Given the description of an element on the screen output the (x, y) to click on. 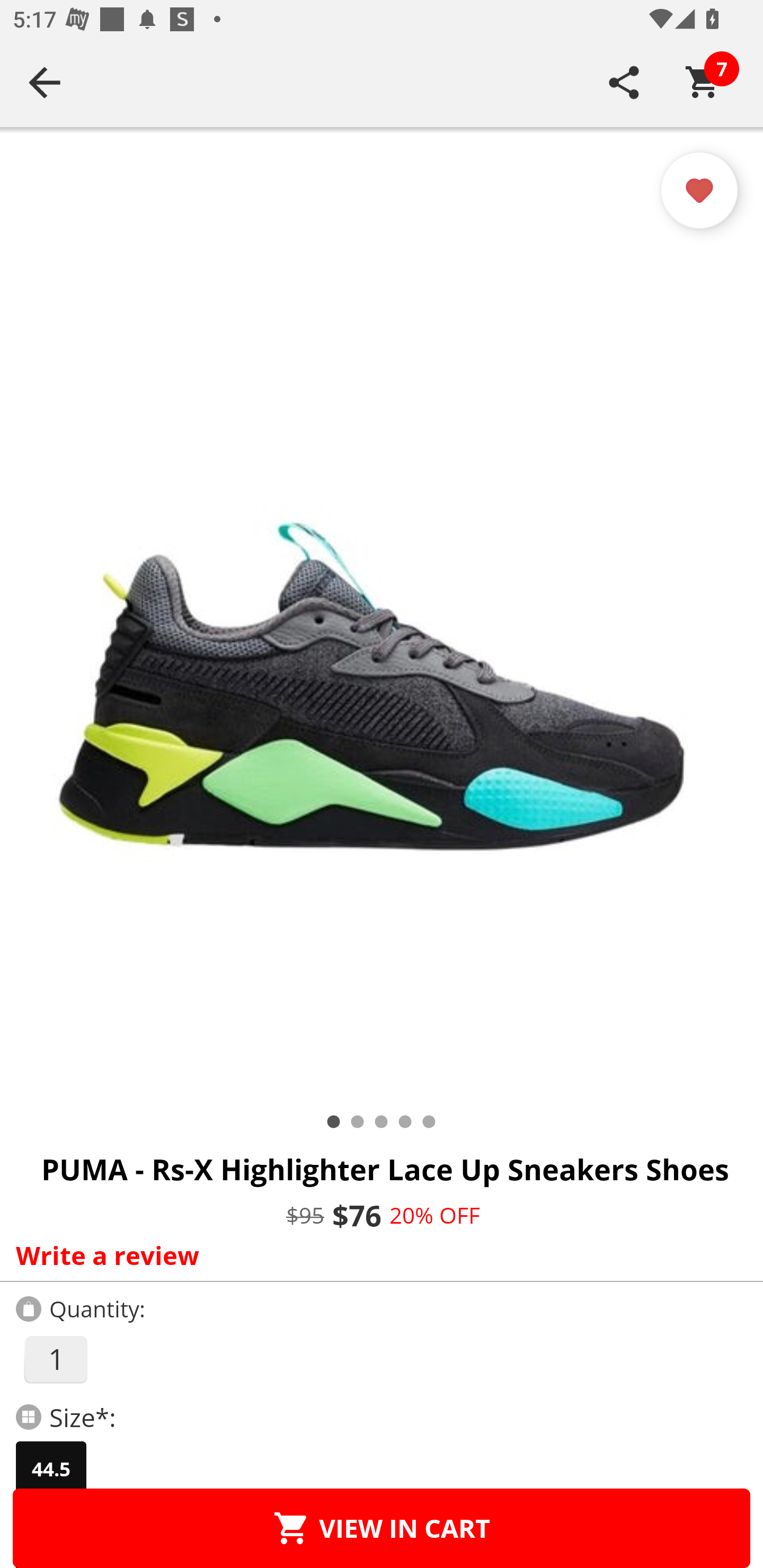
Navigate up (44, 82)
SHARE (623, 82)
Cart (703, 81)
Write a review (377, 1255)
1 (55, 1358)
44.5 (51, 1468)
VIEW IN CART (381, 1528)
